Given the description of an element on the screen output the (x, y) to click on. 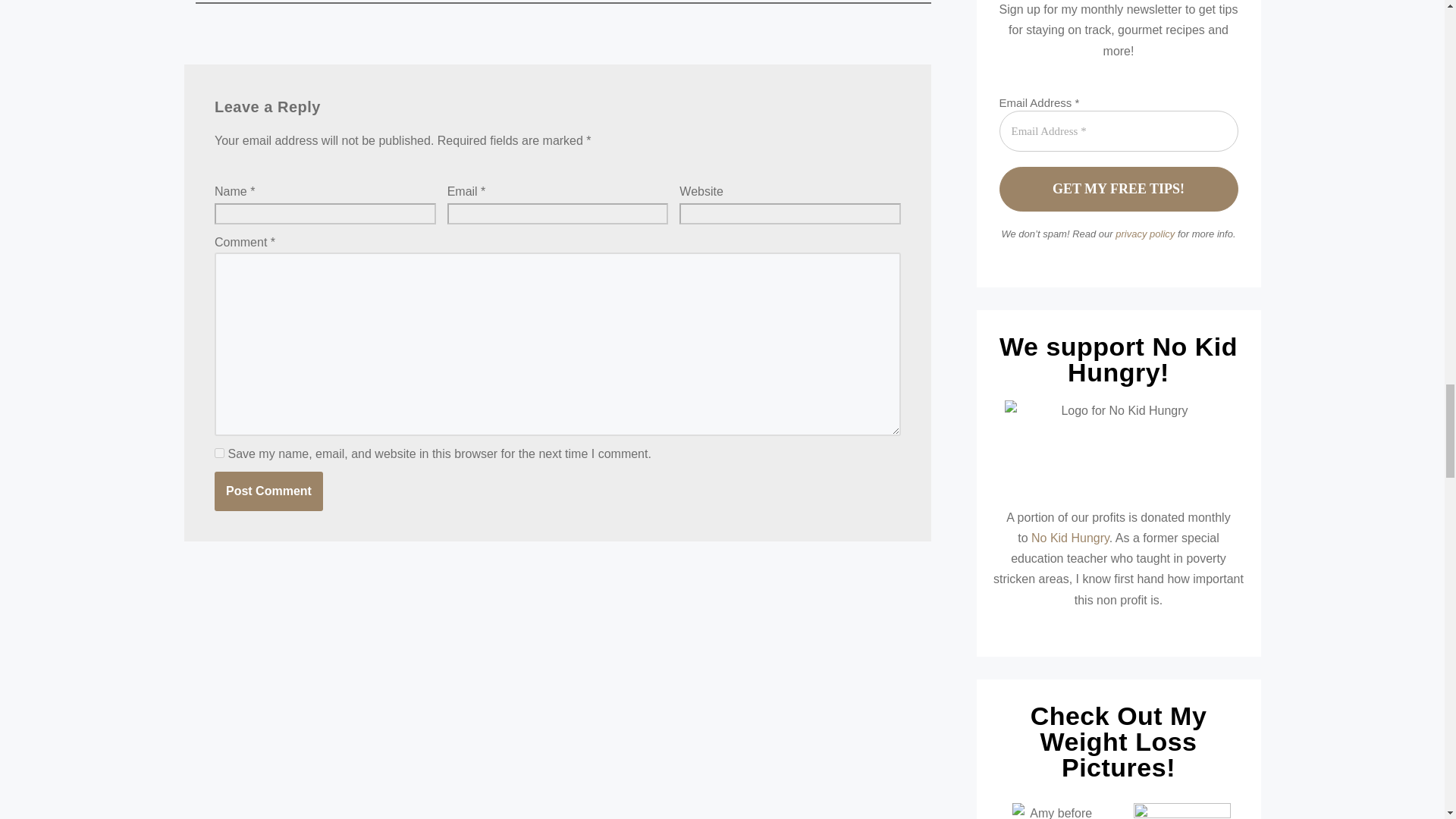
GET MY FREE TIPS! (1118, 189)
Email Address (1118, 131)
Post Comment (267, 491)
yes (219, 452)
